Given the description of an element on the screen output the (x, y) to click on. 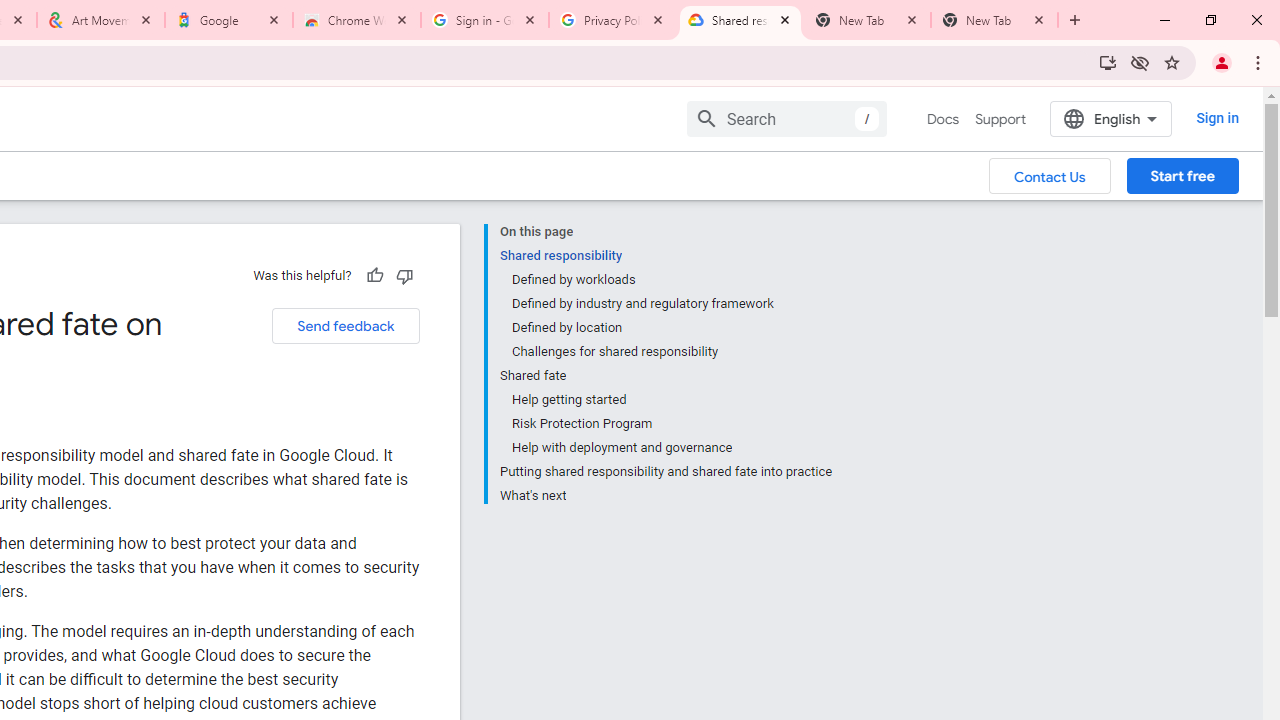
What's next (665, 493)
Shared fate (665, 376)
Helpful (374, 275)
Help with deployment and governance (671, 448)
Docs, selected (942, 119)
Sign in - Google Accounts (485, 20)
